Given the description of an element on the screen output the (x, y) to click on. 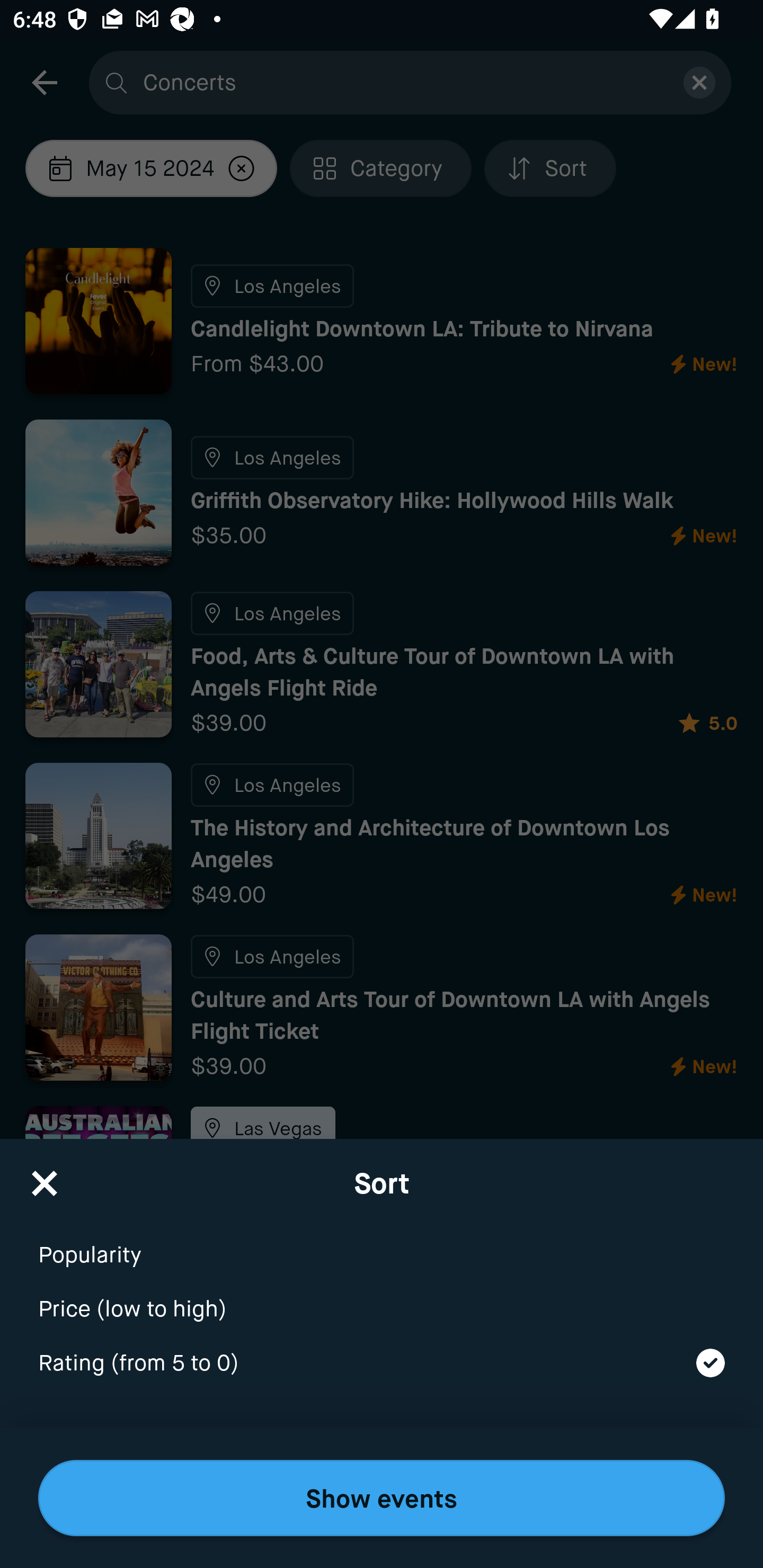
CloseButton (44, 1177)
Popularity (381, 1243)
Price (low to high) (381, 1297)
Rating (from 5 to 0) Selected Icon (381, 1362)
Show events (381, 1497)
